Given the description of an element on the screen output the (x, y) to click on. 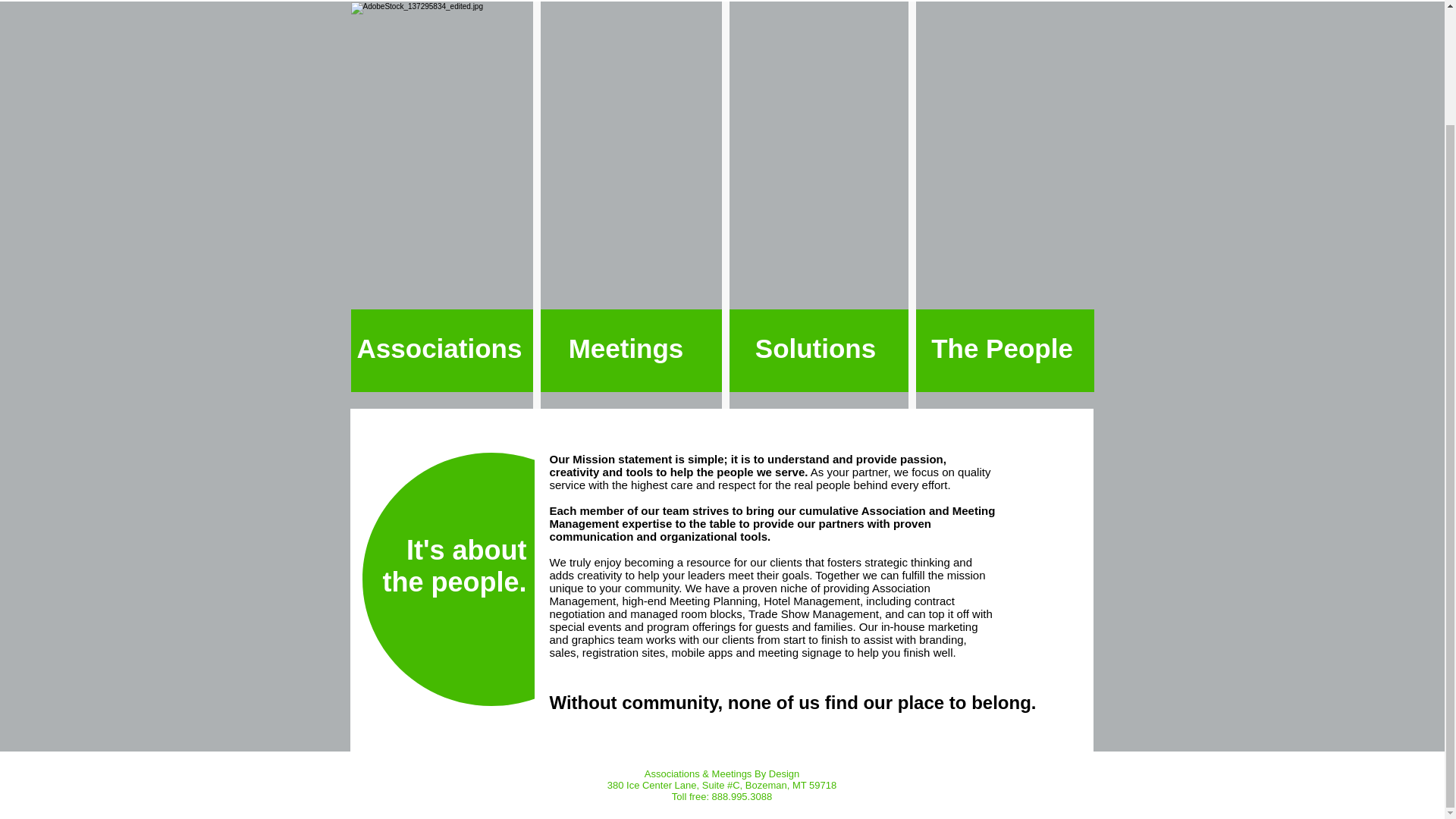
Associations (439, 348)
The People (1002, 348)
Solutions (815, 348)
Meetings (626, 348)
